Given the description of an element on the screen output the (x, y) to click on. 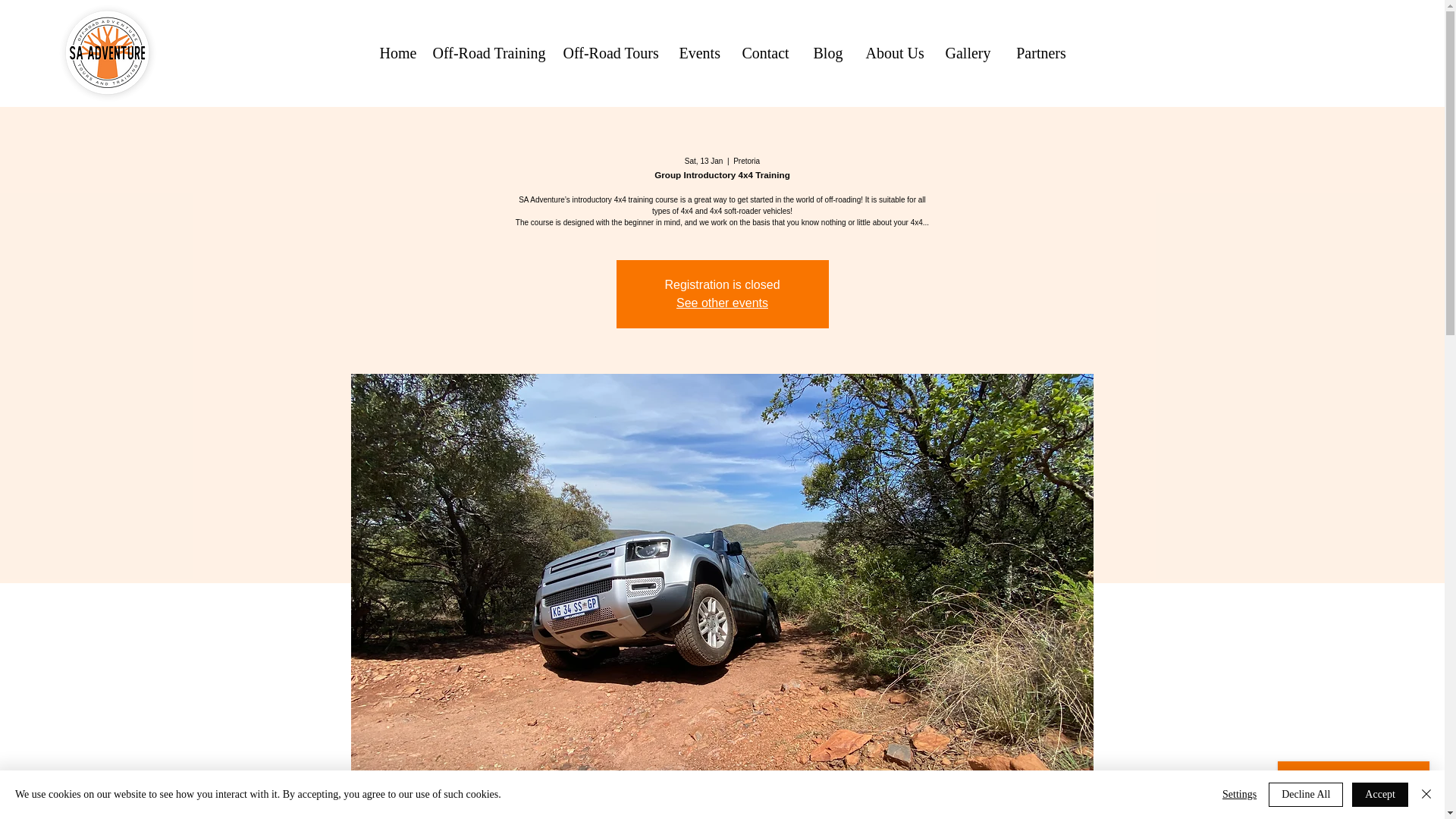
See other events (722, 302)
Home (393, 53)
Partners (1040, 53)
Gallery (968, 53)
Events (697, 53)
Off-Road Training (485, 53)
Contact (765, 53)
Accept (1379, 794)
About Us (893, 53)
Blog (826, 53)
Off-Road Tours (608, 53)
Decline All (1305, 794)
